Given the description of an element on the screen output the (x, y) to click on. 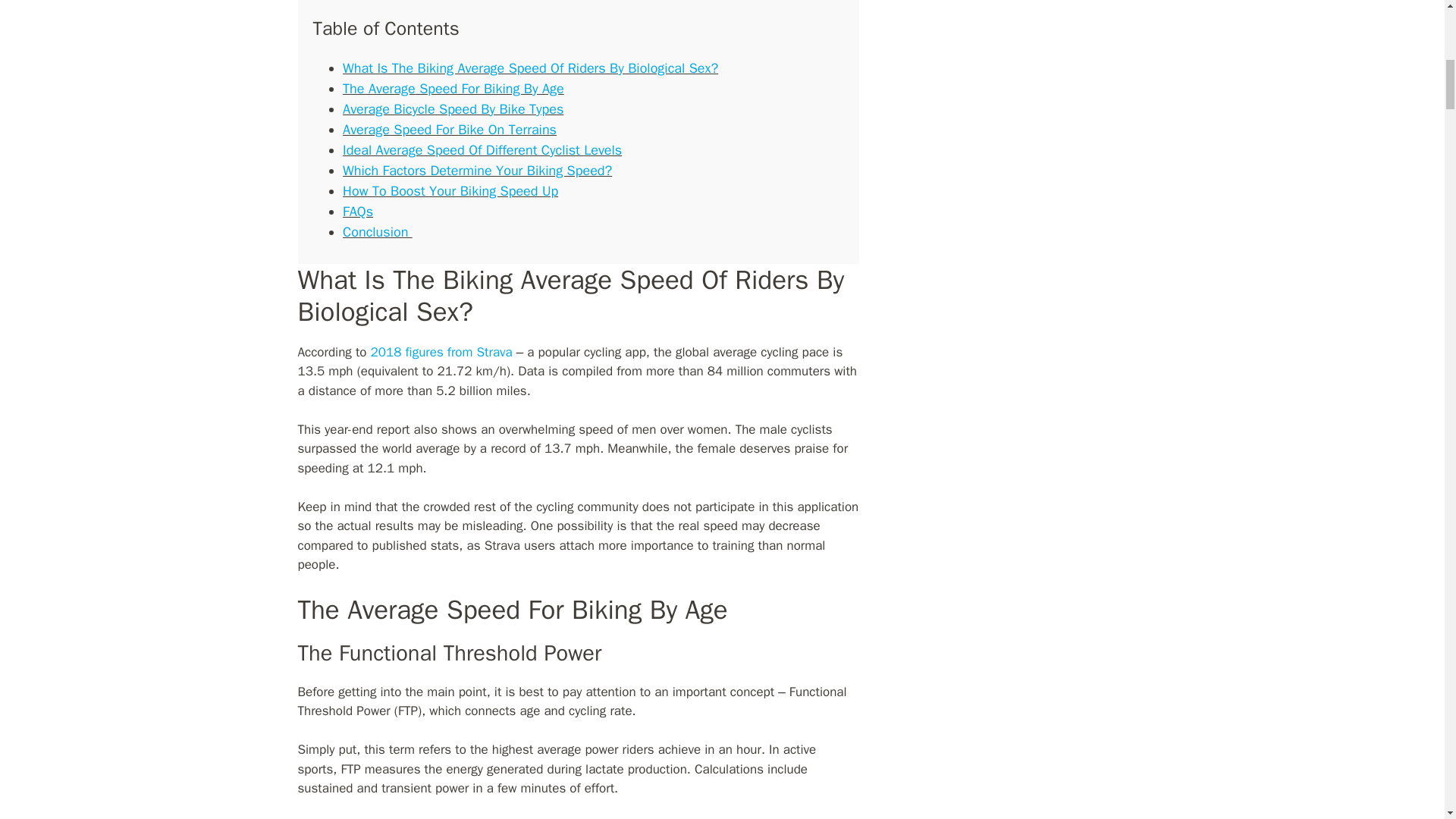
Average Bicycle Speed By Bike Types (452, 108)
How To Boost Your Biking Speed Up (449, 190)
FAQs (357, 211)
The Average Speed For Biking By Age (453, 88)
Ideal Average Speed Of Different Cyclist Levels (481, 149)
Conclusion  (377, 231)
2018 figures from Strava (441, 351)
Average Speed For Bike On Terrains (449, 129)
Which Factors Determine Your Biking Speed? (476, 170)
